Given the description of an element on the screen output the (x, y) to click on. 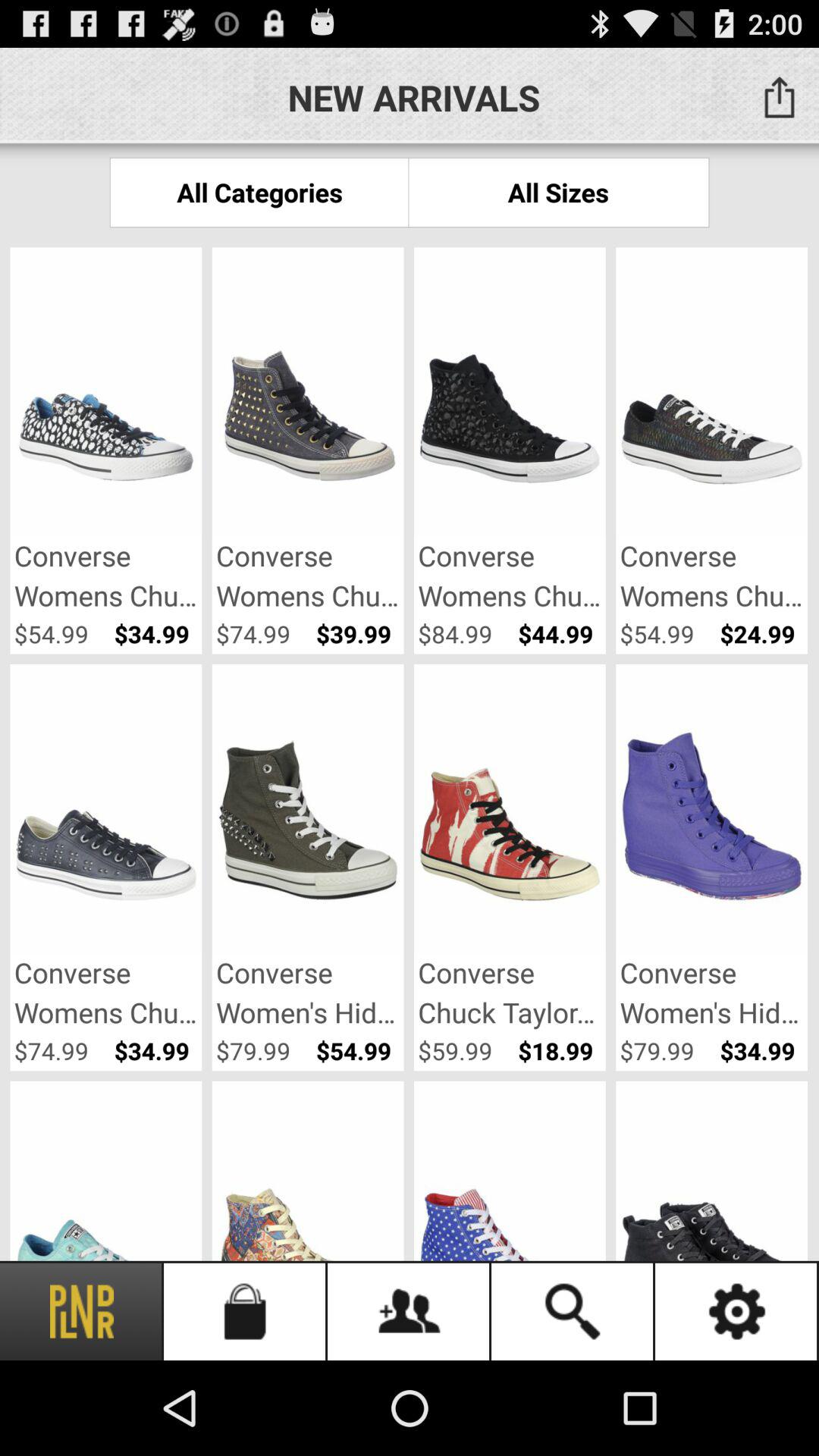
click on the share icon (779, 97)
select the second row first image (105, 809)
select the image which is at first right side of the page (711, 393)
select a search icon which is on the bottom of the page (573, 1311)
